Given the description of an element on the screen output the (x, y) to click on. 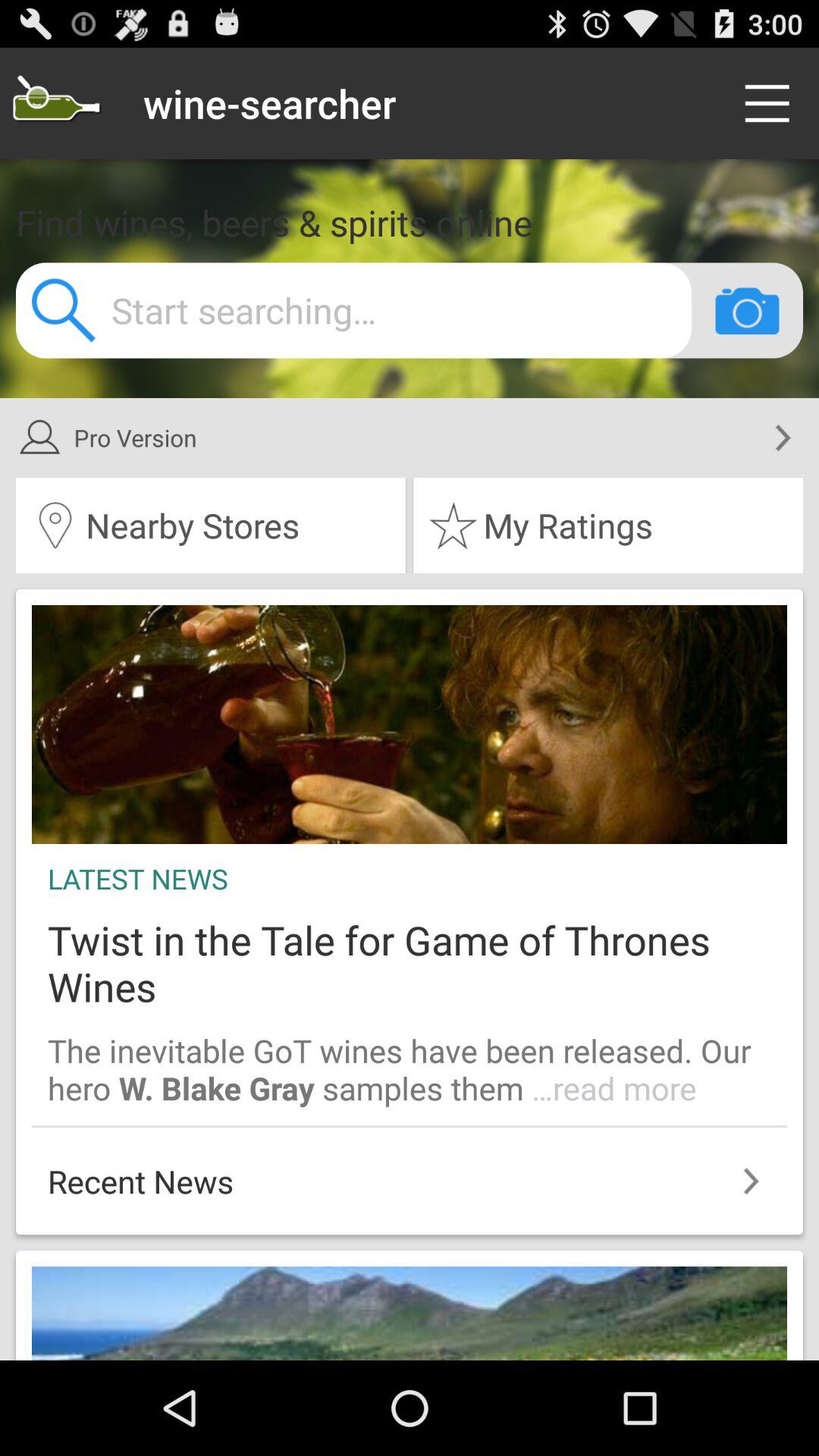
search by photo button (747, 310)
